Given the description of an element on the screen output the (x, y) to click on. 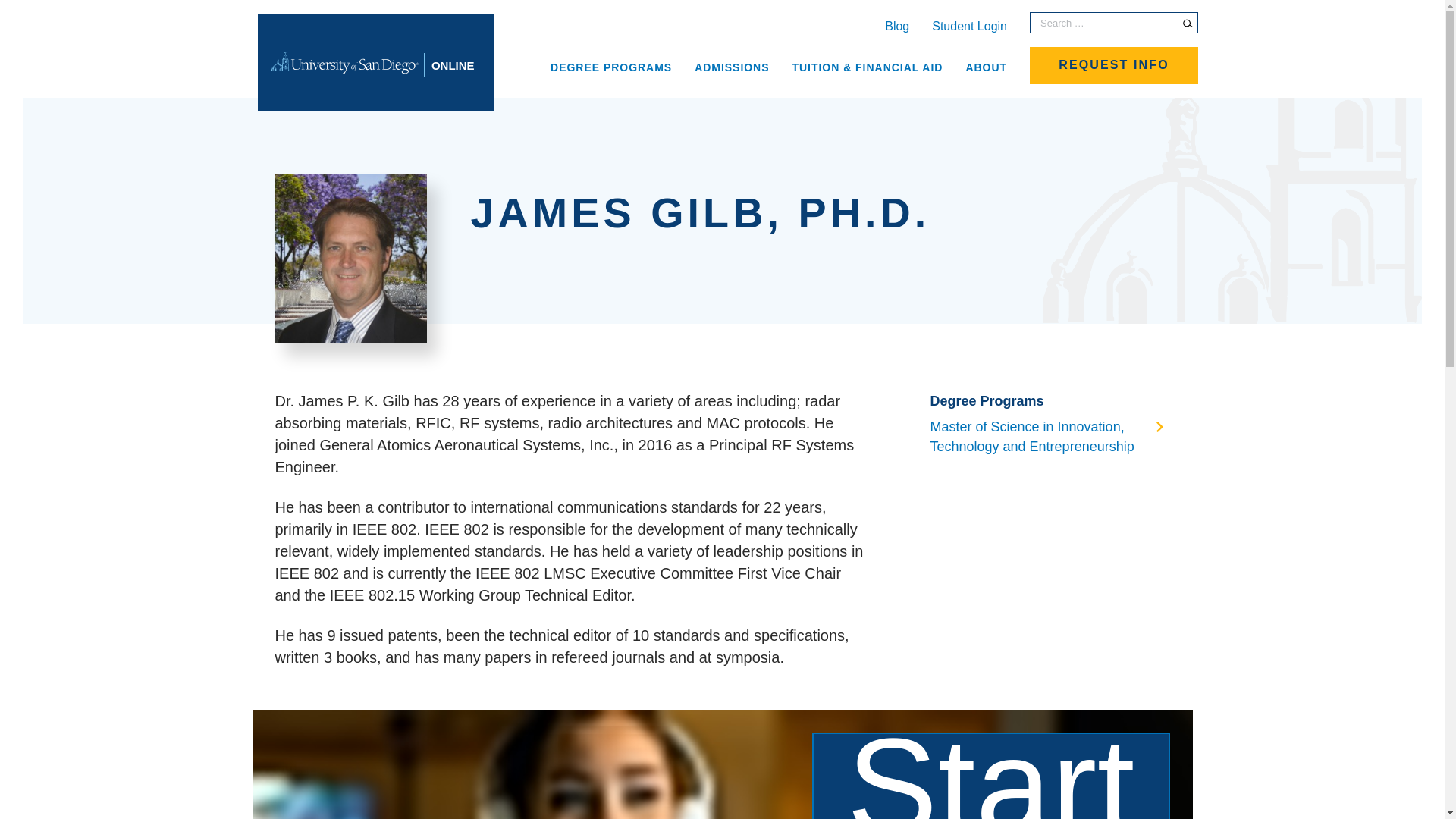
DEGREE PROGRAMS (611, 66)
Search (1186, 22)
Home (375, 62)
Search (1186, 22)
